Given the description of an element on the screen output the (x, y) to click on. 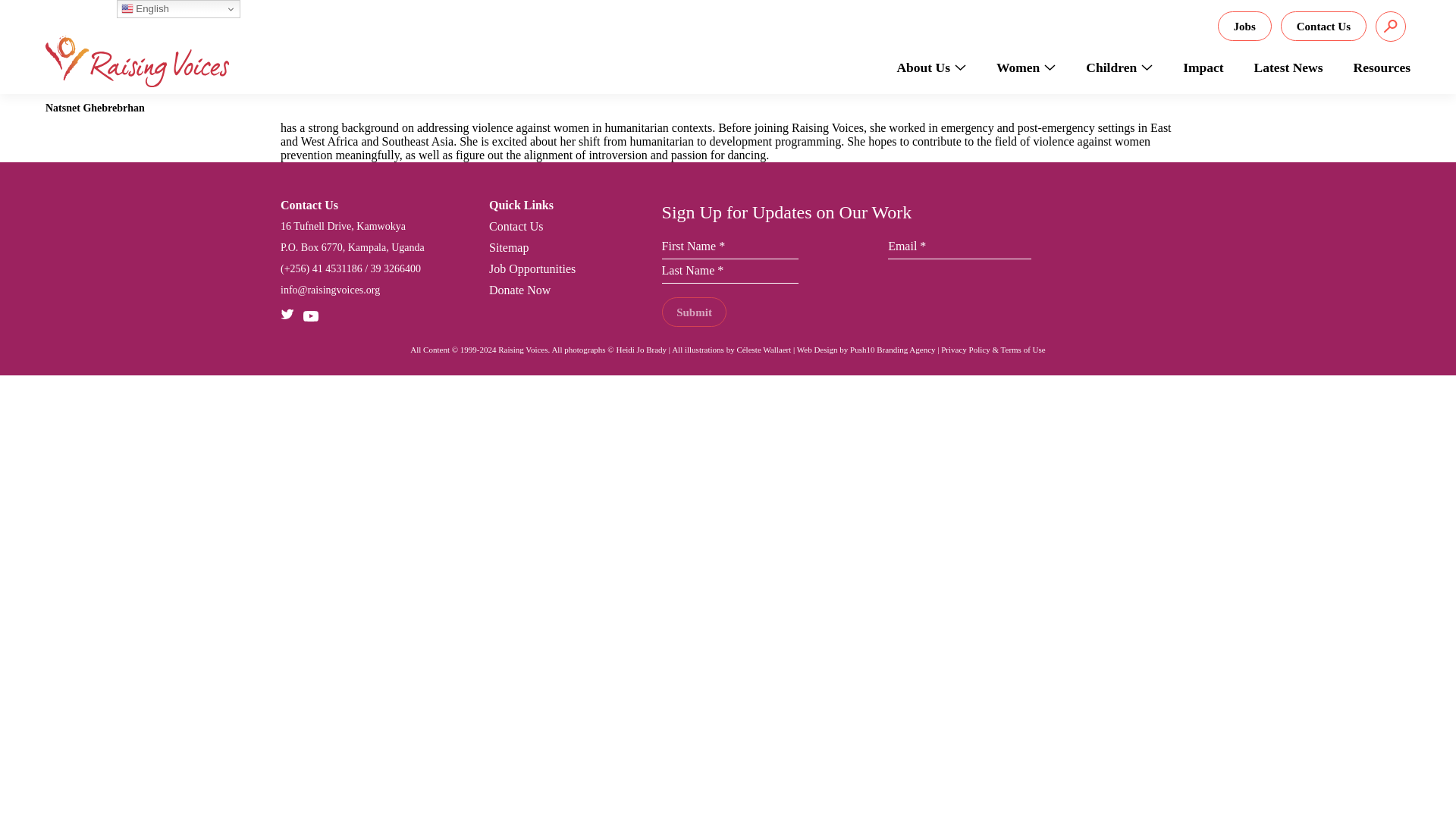
Women (1025, 67)
Contact Us (1324, 25)
Submit (694, 311)
Contact Us (516, 226)
About Us (938, 67)
Resources (1374, 67)
Latest News (1288, 67)
Jobs (1244, 25)
39 3266400 (396, 268)
Children (1118, 67)
Impact (1203, 67)
